Given the description of an element on the screen output the (x, y) to click on. 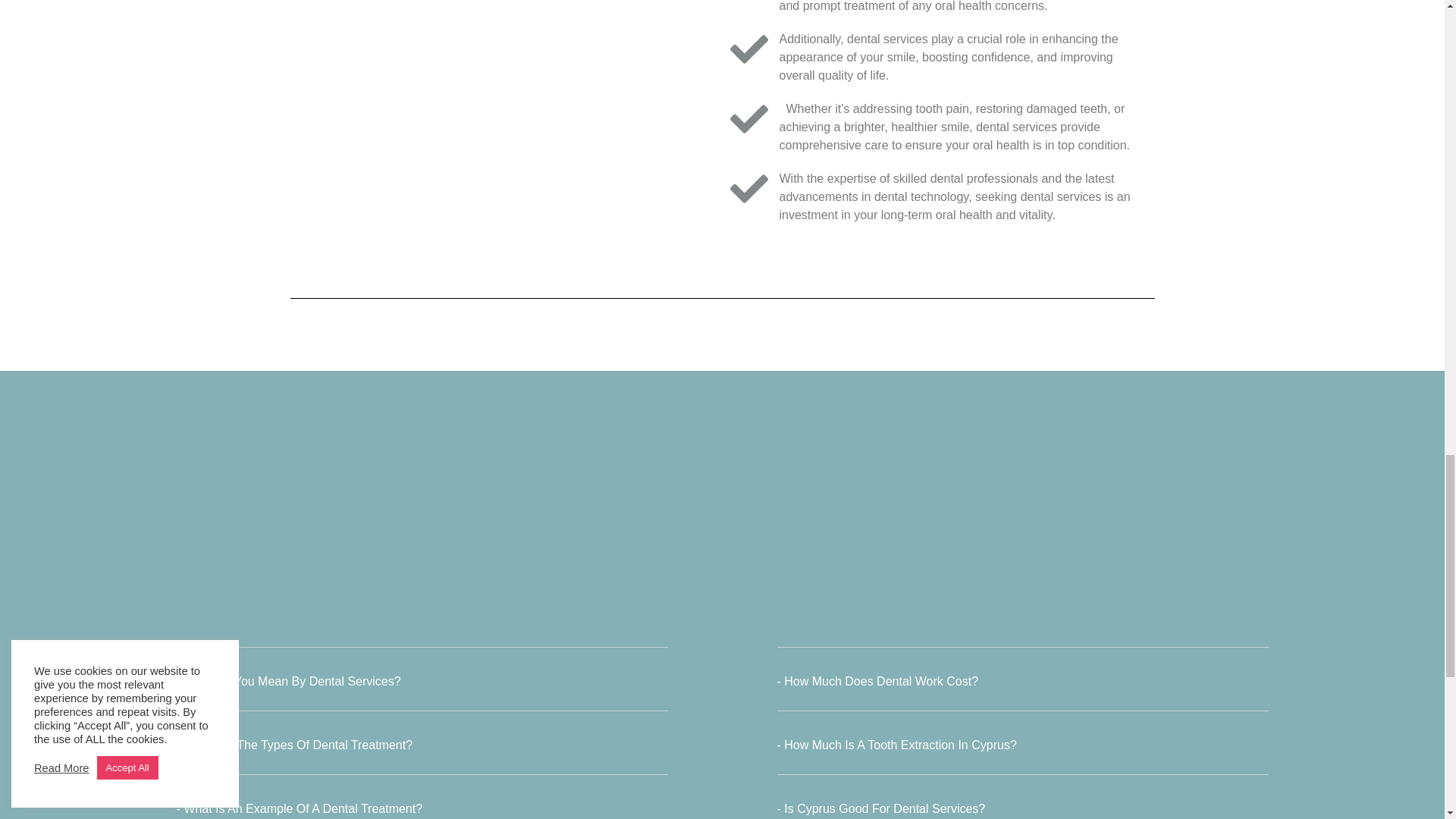
- Is Cyprus Good For Dental Services? (880, 808)
- What Do You Mean By Dental Services? (288, 680)
Preventive Dentisty (505, 131)
- How Much Does Dental Work Cost? (877, 680)
- How Much Is A Tooth Extraction In Cyprus? (896, 744)
- What Is An Example Of A Dental Treatment? (299, 808)
- What Are The Types Of Dental Treatment? (294, 744)
